Given the description of an element on the screen output the (x, y) to click on. 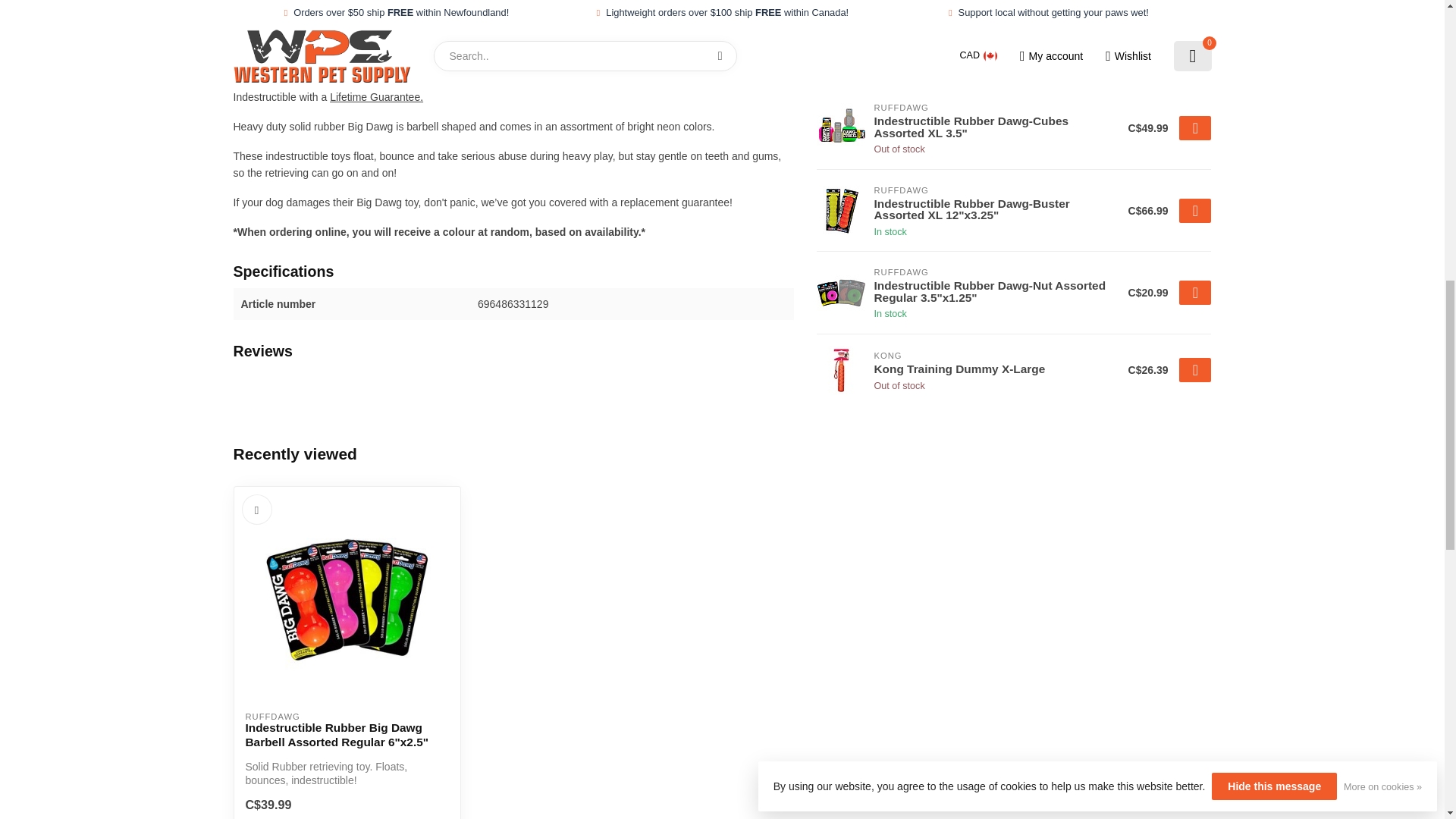
Kong Kong Training Dummy X-Large (841, 369)
RuffDawg Indestructible Rubber Dawg-Cubes Assorted XL 3.5" (841, 127)
